Given the description of an element on the screen output the (x, y) to click on. 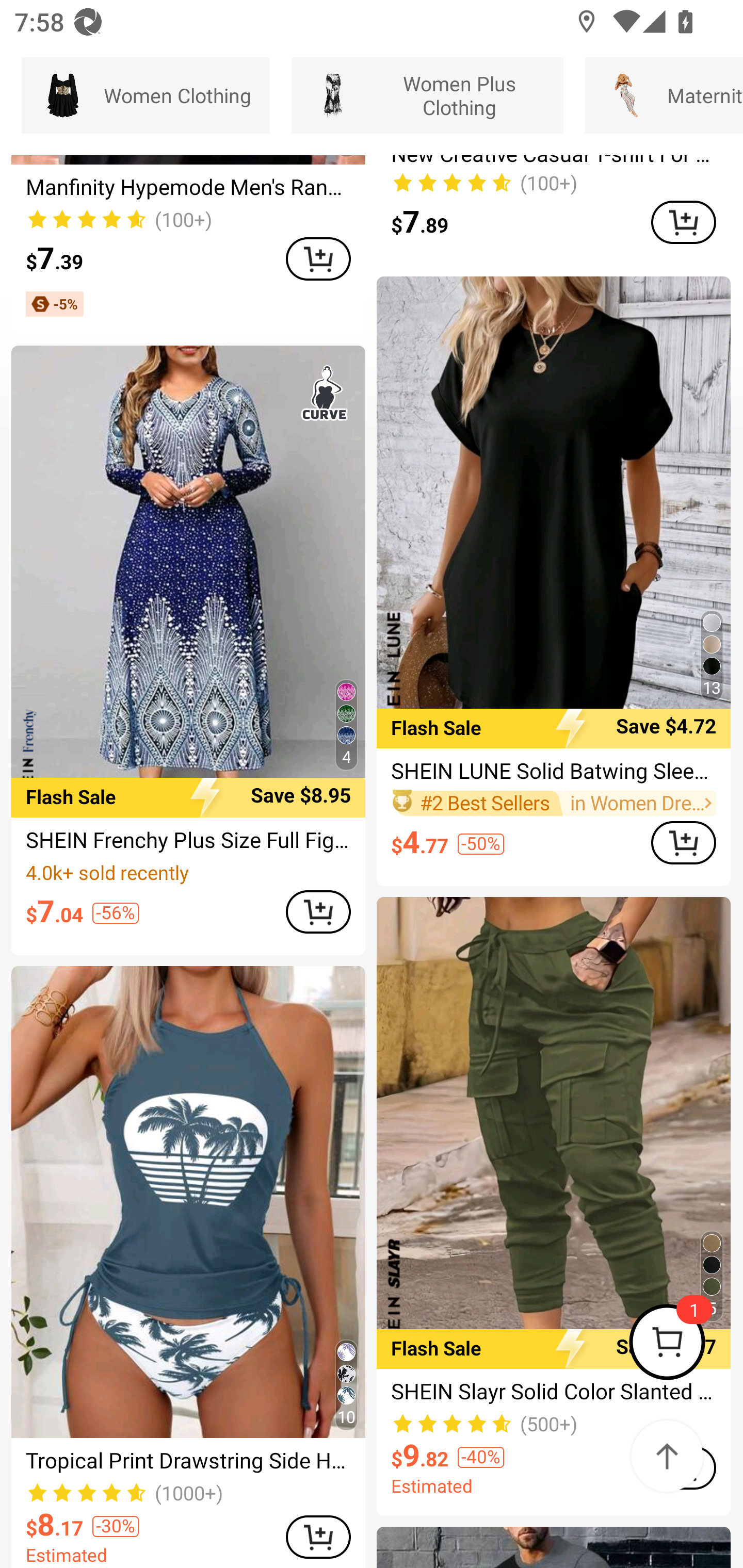
Women Clothing (145, 95)
Women Plus Clothing (427, 95)
Maternity Clothing (664, 95)
ADD TO CART (683, 222)
ADD TO CART (318, 258)
#2 Best Sellers in Women Dresses (553, 802)
ADD TO CART (683, 842)
ADD TO CART (318, 911)
Back to top (666, 1455)
ADD TO CART (318, 1536)
